Given the description of an element on the screen output the (x, y) to click on. 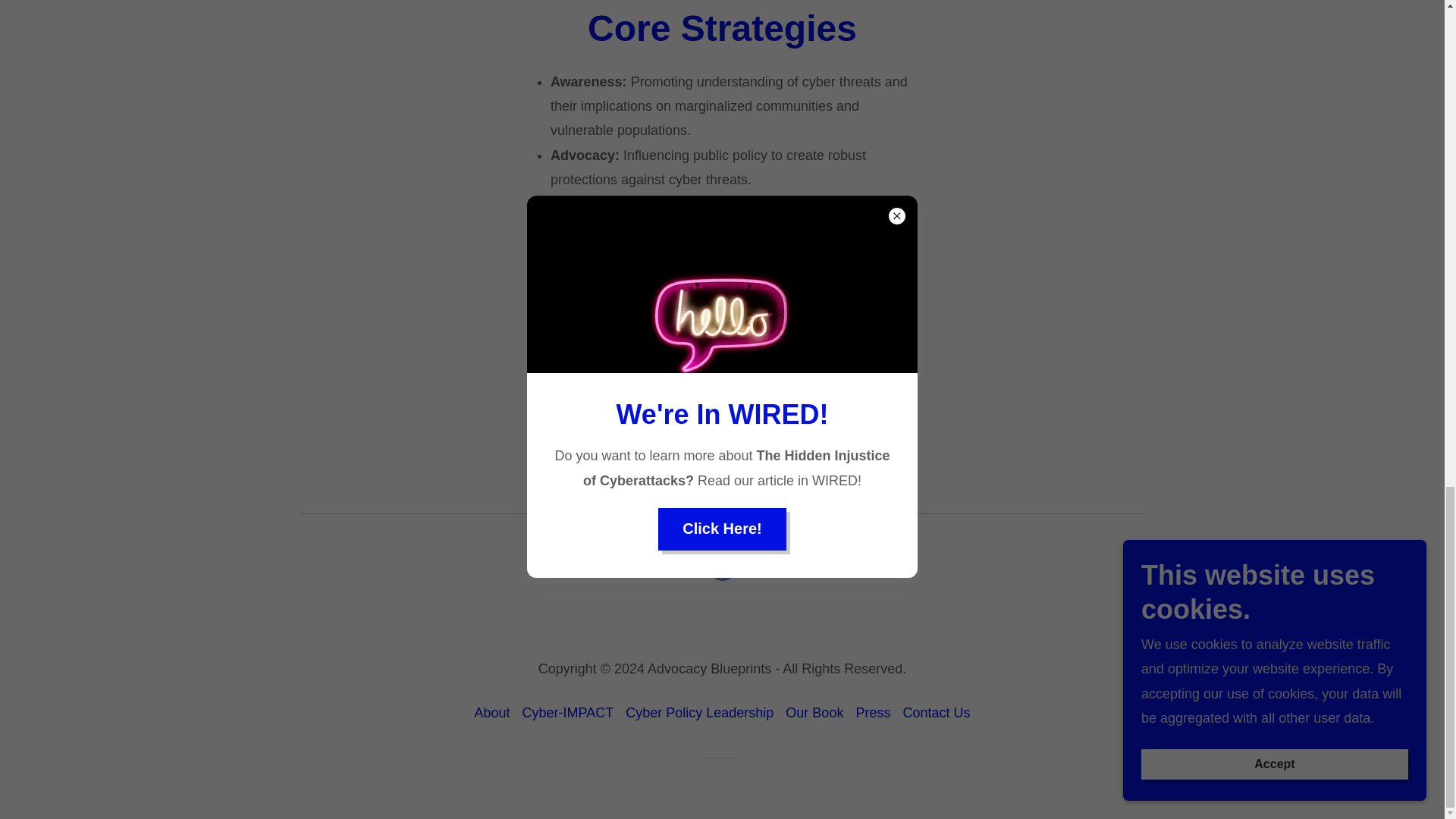
Our Book (813, 713)
Interested to Learn More? (722, 431)
About (492, 713)
Cyber Policy Leadership (699, 713)
Cyber-IMPACT (568, 713)
